Given the description of an element on the screen output the (x, y) to click on. 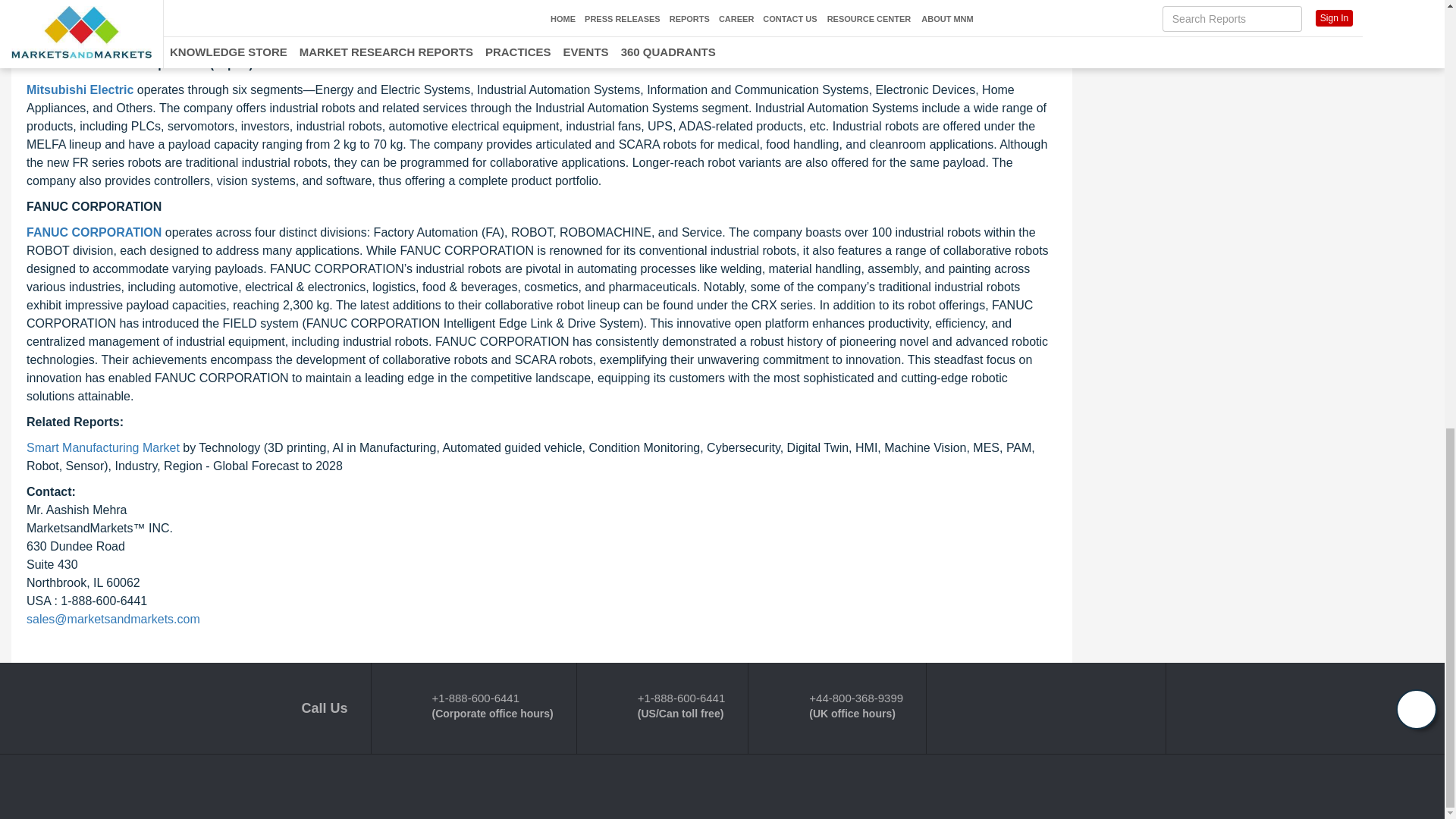
Smart Manufacturing Market (102, 447)
FANUC CORPORATION (93, 232)
Mitsubishi Electric (79, 89)
